Given the description of an element on the screen output the (x, y) to click on. 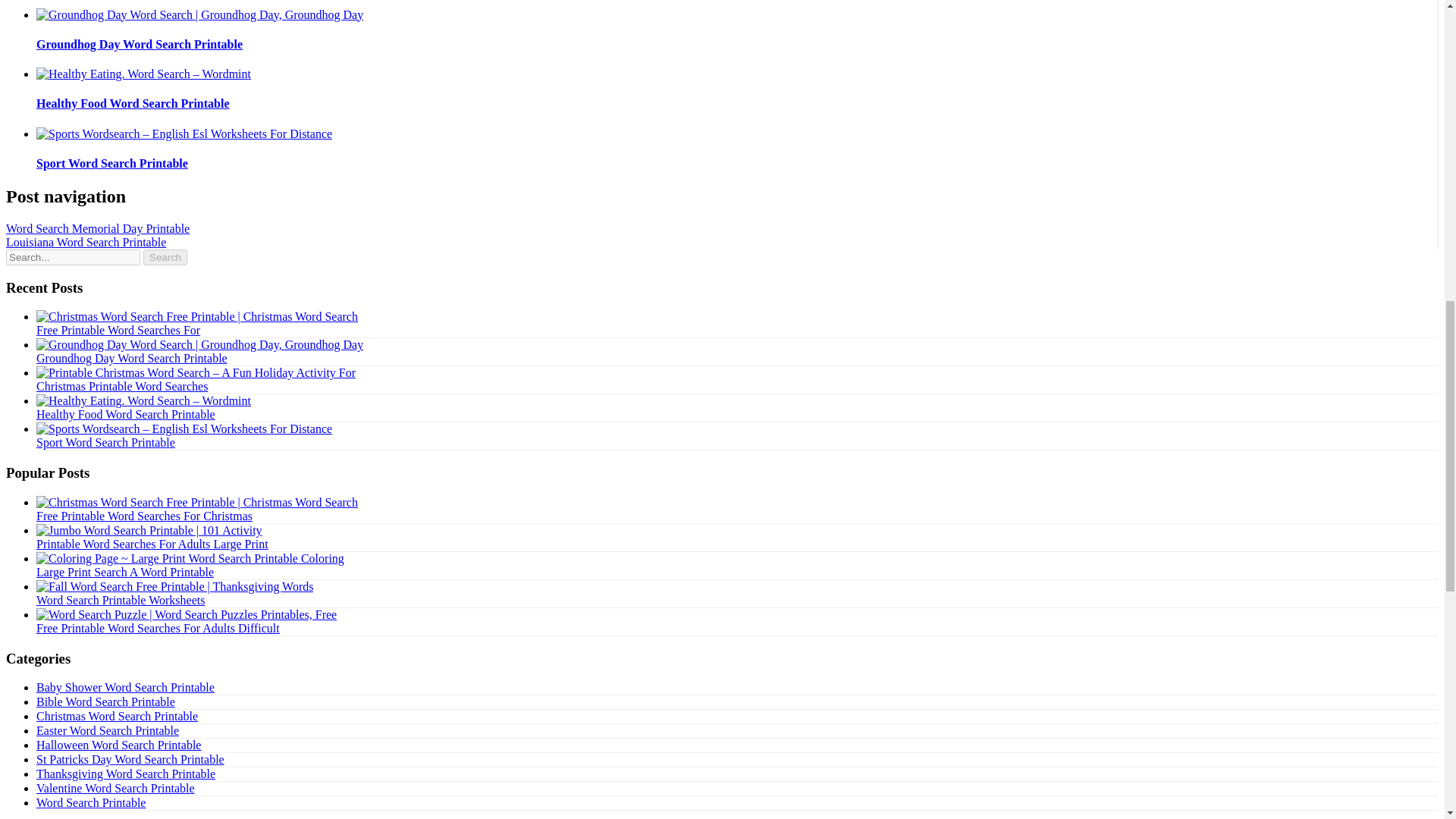
Search (164, 257)
Search (164, 257)
Christmas Printable Word Searches (122, 386)
Healthy Food Word Search Printable (133, 103)
Healthy Food Word Search Printable (133, 103)
Healthy Food Word Search Printable (125, 413)
Groundhog Day Word Search Printable (131, 358)
Sport Word Search Printable (111, 163)
Groundhog Day Word Search Printable (139, 43)
Sport Word Search Printable (105, 441)
